Given the description of an element on the screen output the (x, y) to click on. 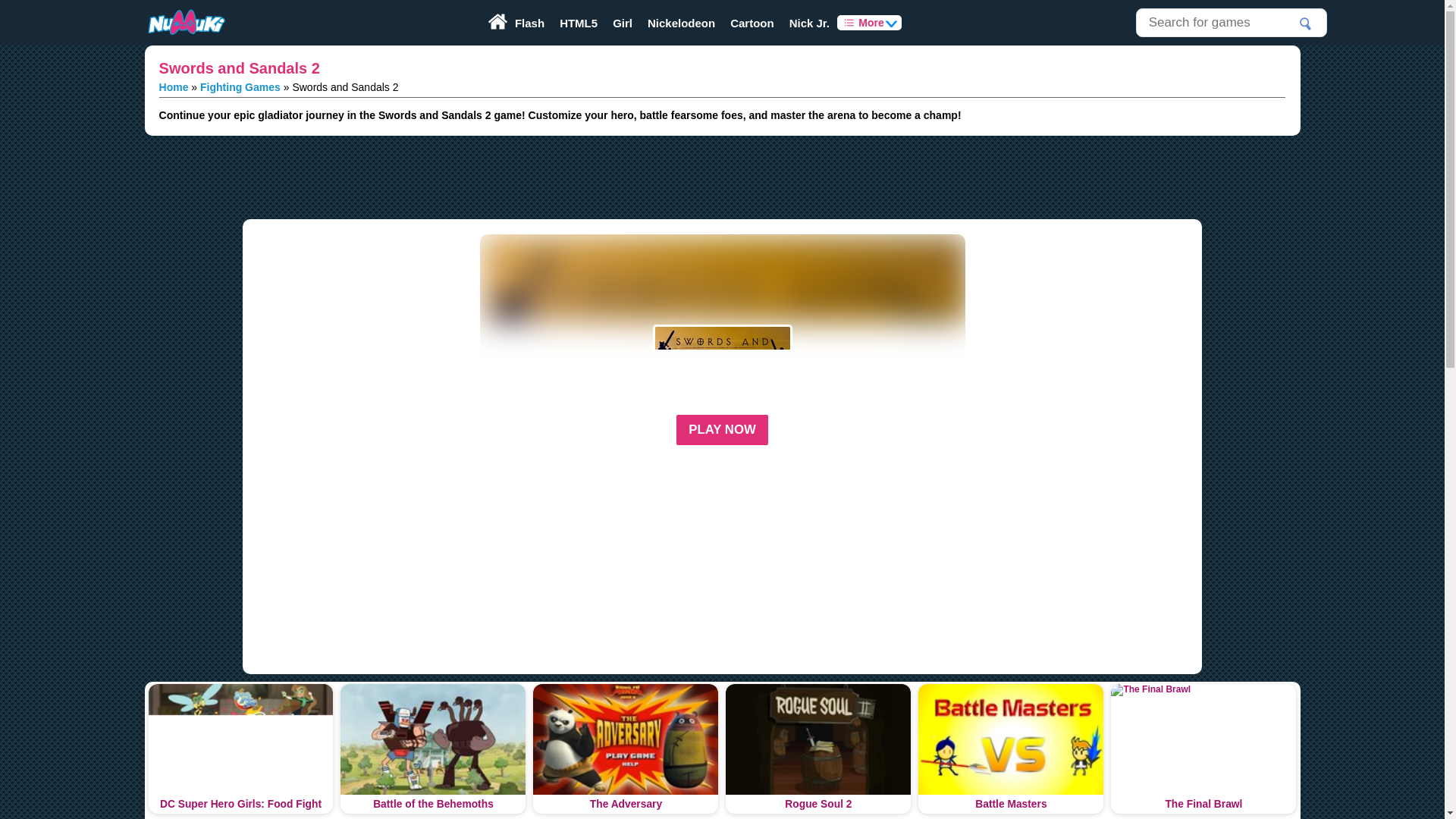
More (869, 22)
Search (1305, 24)
Flash Games (528, 22)
Nickelodeon (681, 22)
Home (173, 87)
Nick Jr. (809, 22)
Flash (528, 22)
HTML5 Games (578, 22)
Cartoon Games (751, 22)
Cartoon (751, 22)
Girl Games (622, 22)
Nickelodeon Games (681, 22)
HTML5 (578, 22)
Play Fun Browser Games (185, 22)
Search (1305, 24)
